Given the description of an element on the screen output the (x, y) to click on. 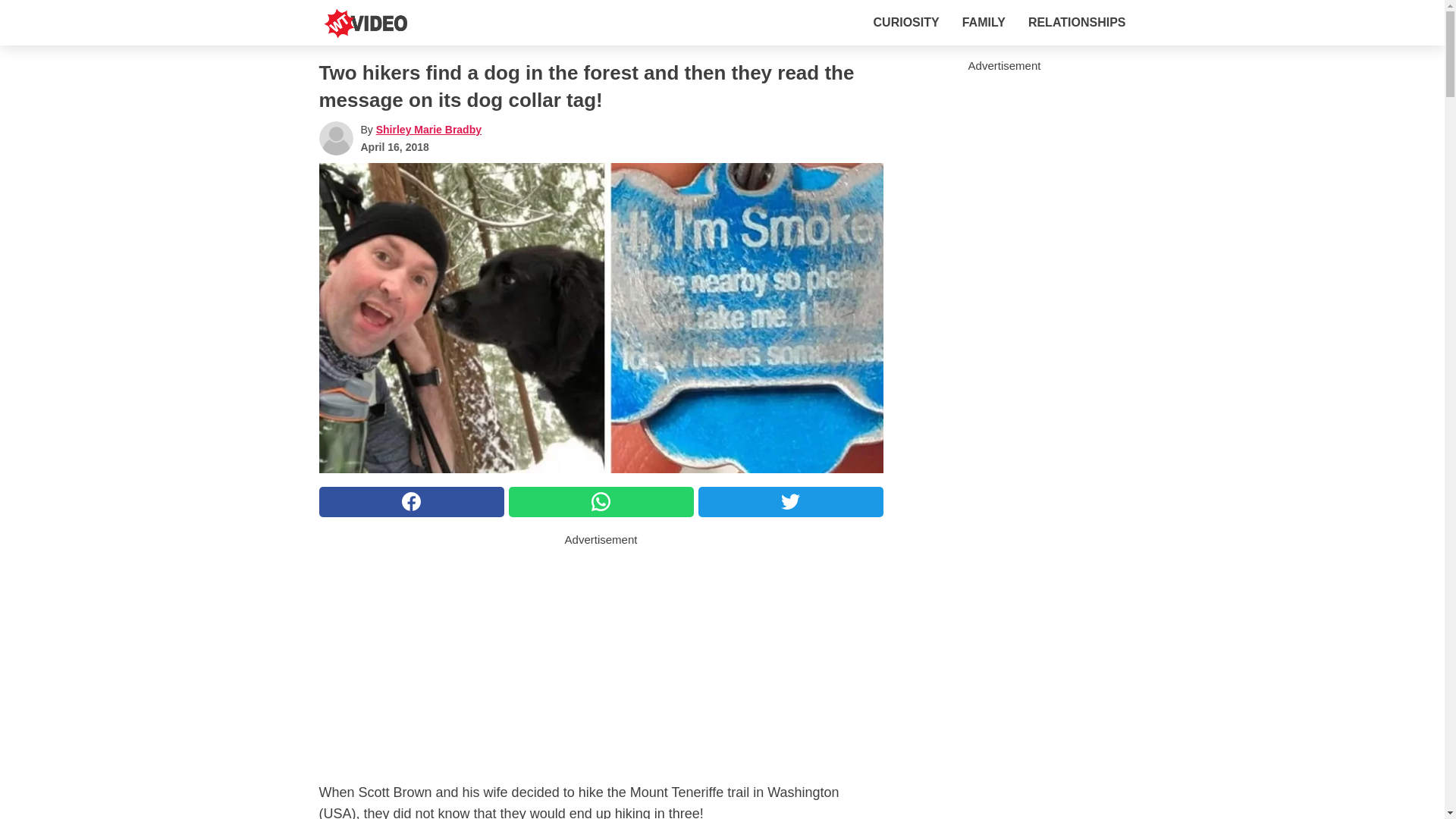
FAMILY (984, 22)
Shirley Marie Bradby (428, 129)
CURIOSITY (906, 22)
RELATIONSHIPS (1076, 22)
